Given the description of an element on the screen output the (x, y) to click on. 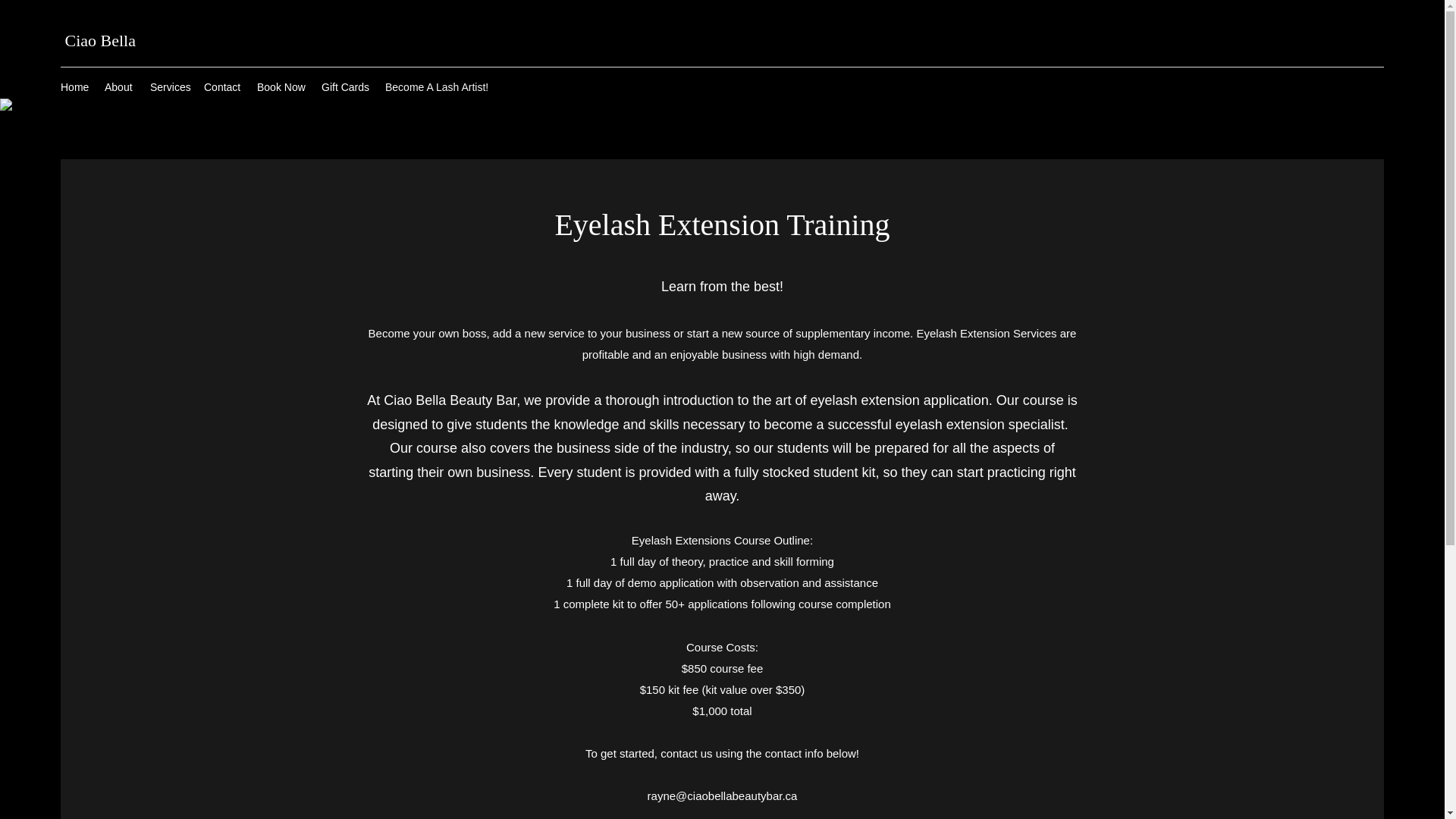
Home (74, 87)
Book Now (281, 87)
Services (169, 87)
Contact (222, 87)
Gift Cards (345, 87)
Become A Lash Artist! (438, 87)
About (119, 87)
